Given the description of an element on the screen output the (x, y) to click on. 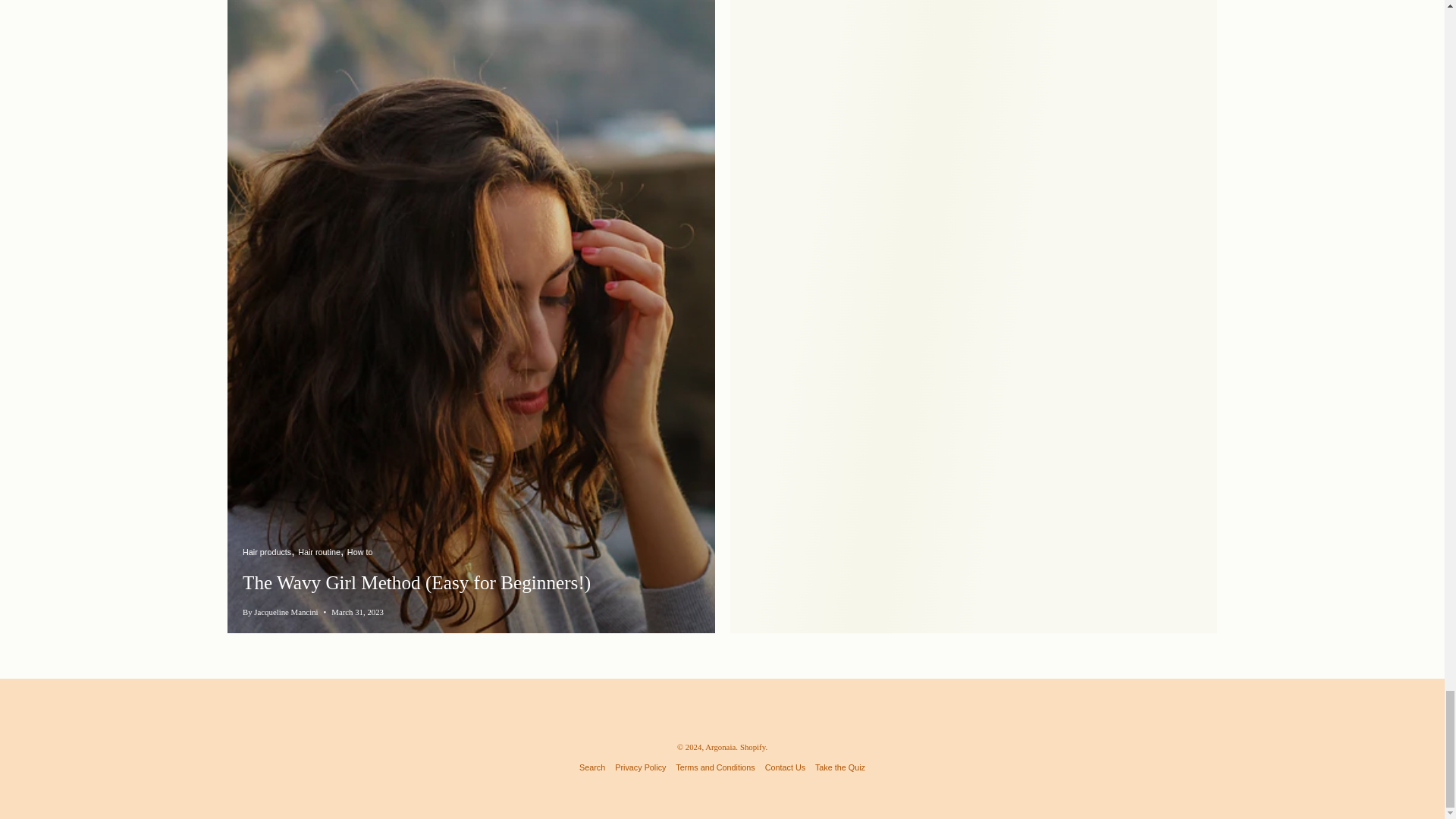
How to (359, 550)
Hair products (269, 550)
Hair routine (320, 550)
